Given the description of an element on the screen output the (x, y) to click on. 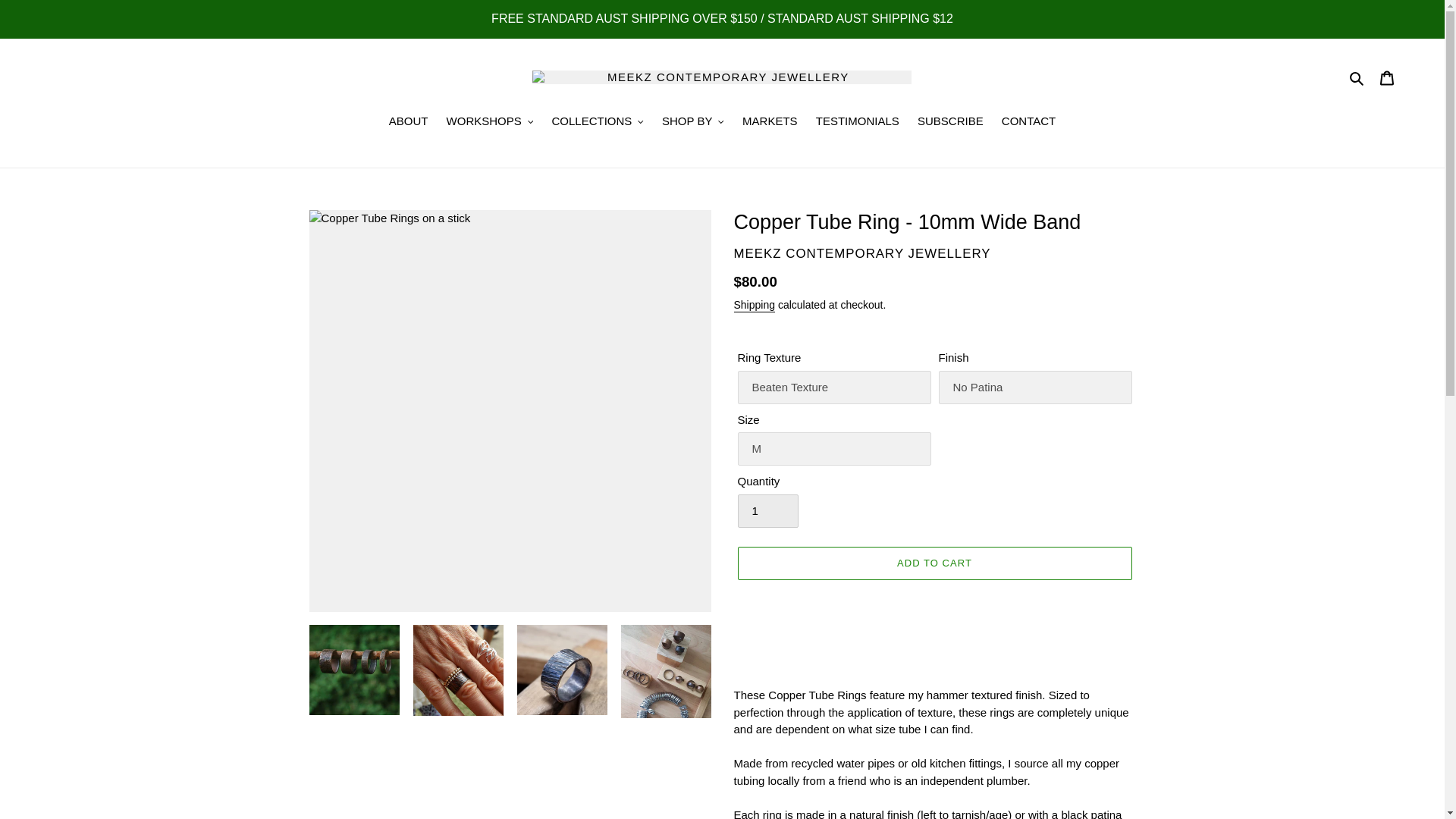
ABOUT (408, 121)
1 (766, 510)
WORKSHOPS (490, 121)
Search (1357, 76)
Cart (1387, 77)
